Given the description of an element on the screen output the (x, y) to click on. 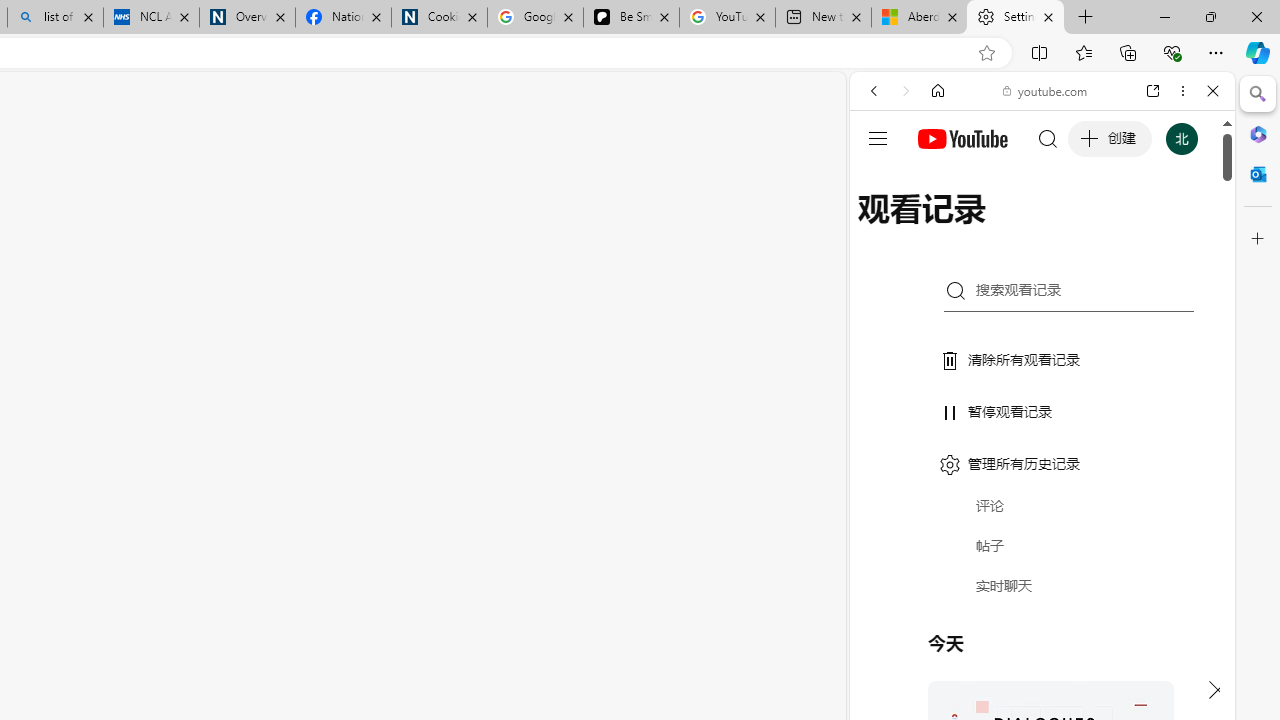
Show More Music (1164, 546)
Cookies (439, 17)
